Given the description of an element on the screen output the (x, y) to click on. 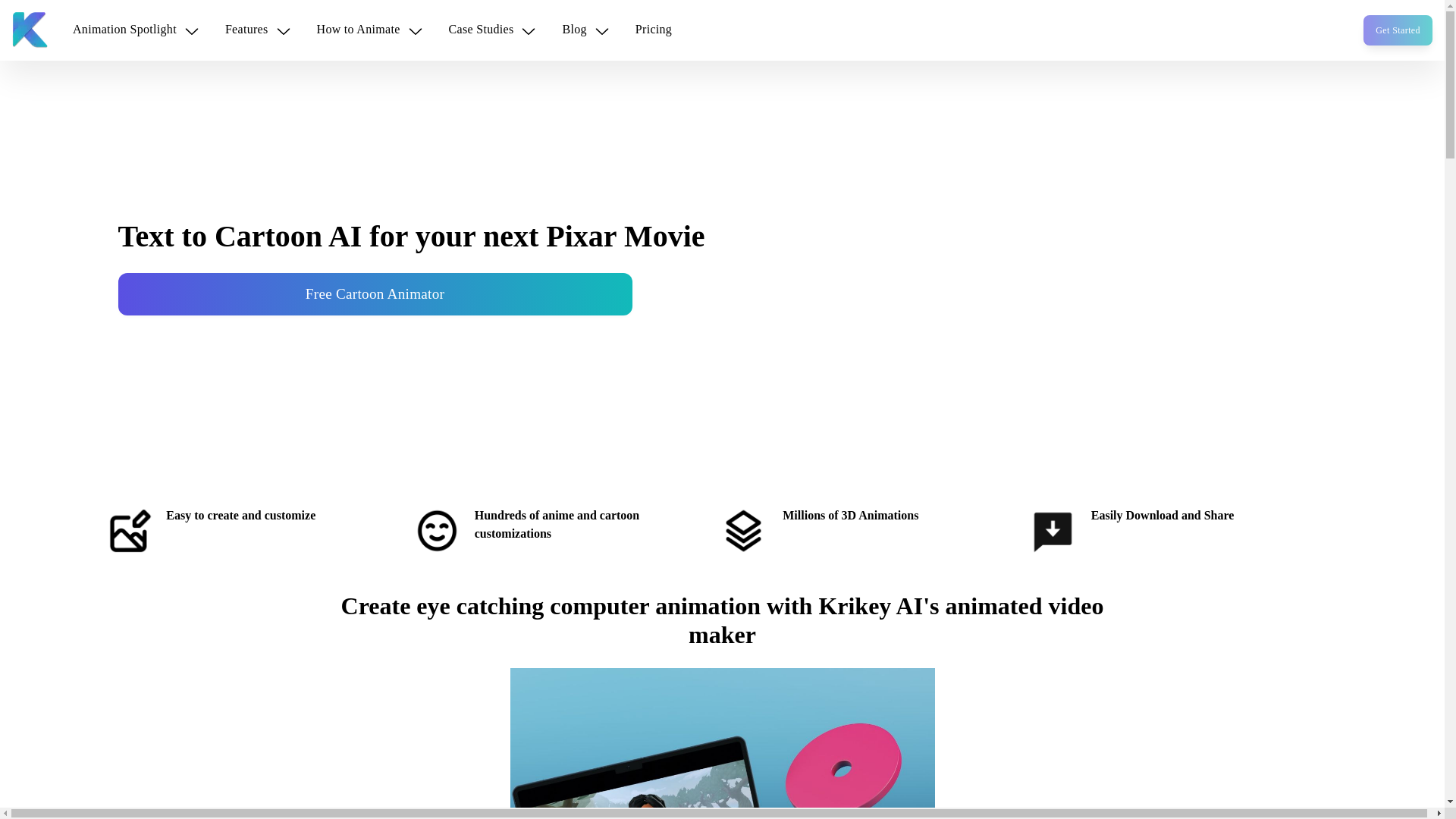
Animation Spotlight (136, 29)
Features (258, 29)
